Given the description of an element on the screen output the (x, y) to click on. 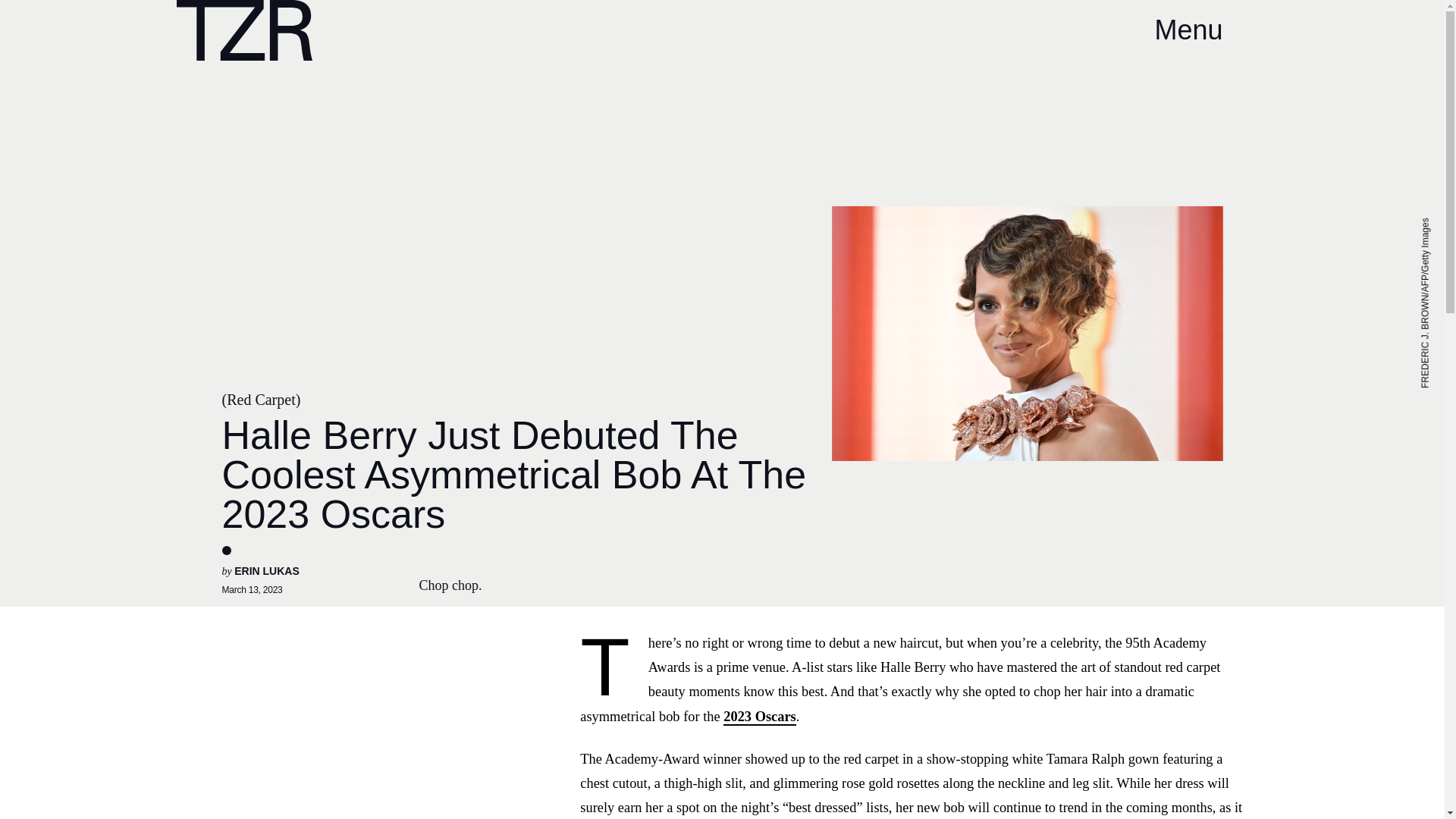
ERIN LUKAS (266, 571)
The Zoe Report (243, 30)
2023 Oscars (759, 717)
